Given the description of an element on the screen output the (x, y) to click on. 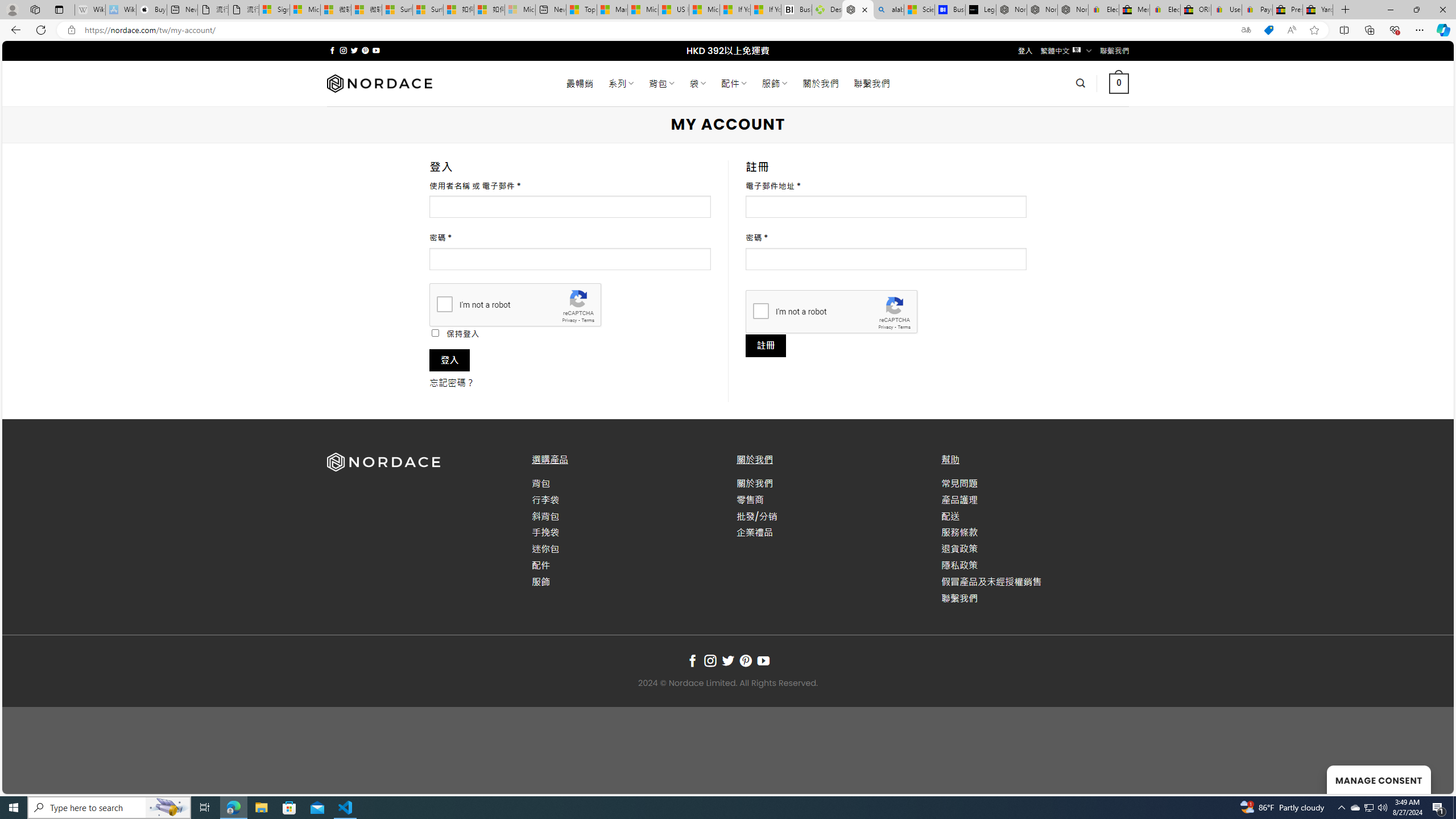
This site has coupons! Shopping in Microsoft Edge (1268, 29)
 0  (1118, 83)
